Given the description of an element on the screen output the (x, y) to click on. 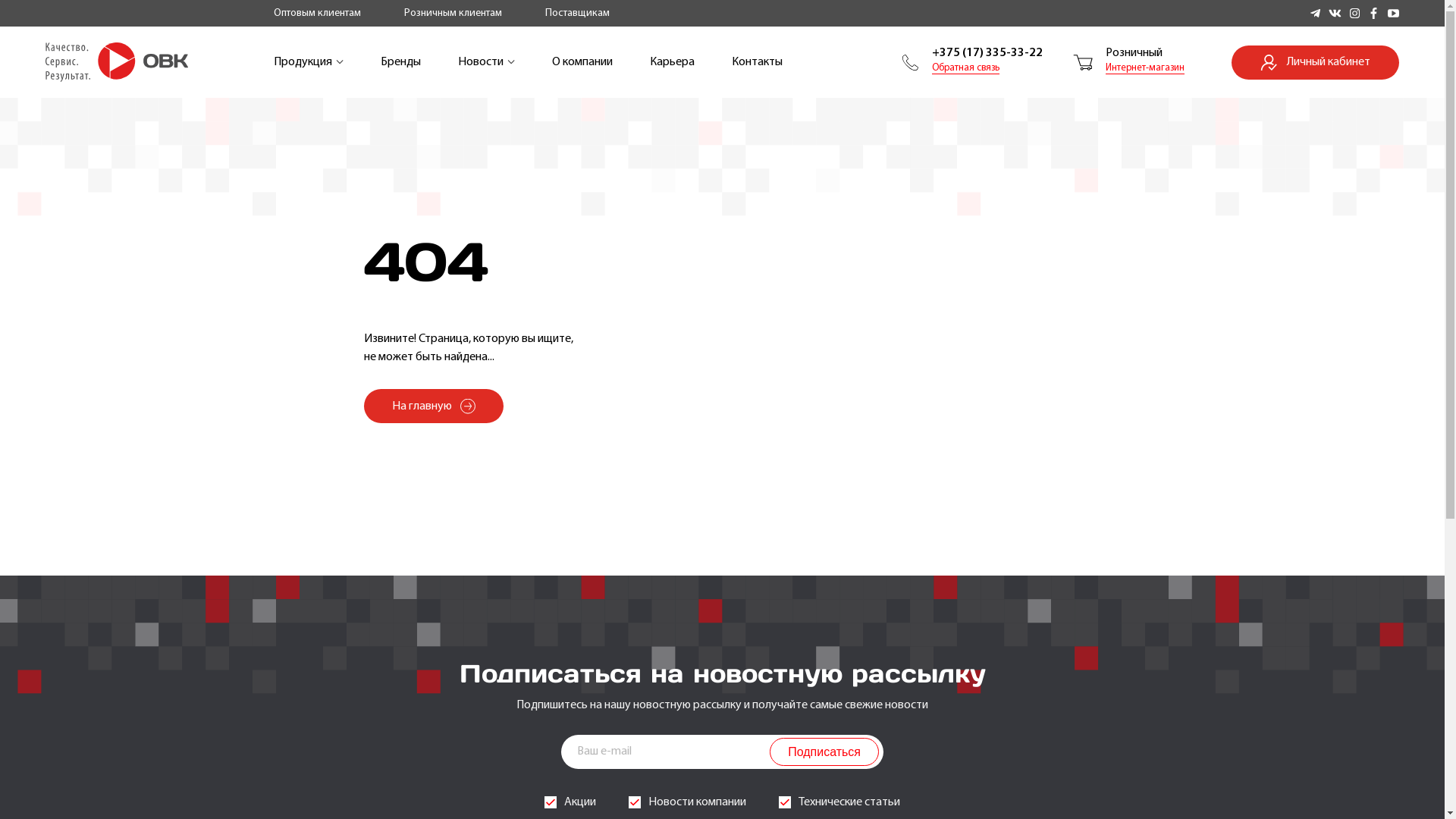
+375 (17) 335-33-22 Element type: text (986, 53)
Telegram Element type: hover (1315, 12)
YouTube Element type: hover (1393, 12)
Instagram Element type: hover (1354, 12)
Facebook Element type: hover (1373, 12)
